Given the description of an element on the screen output the (x, y) to click on. 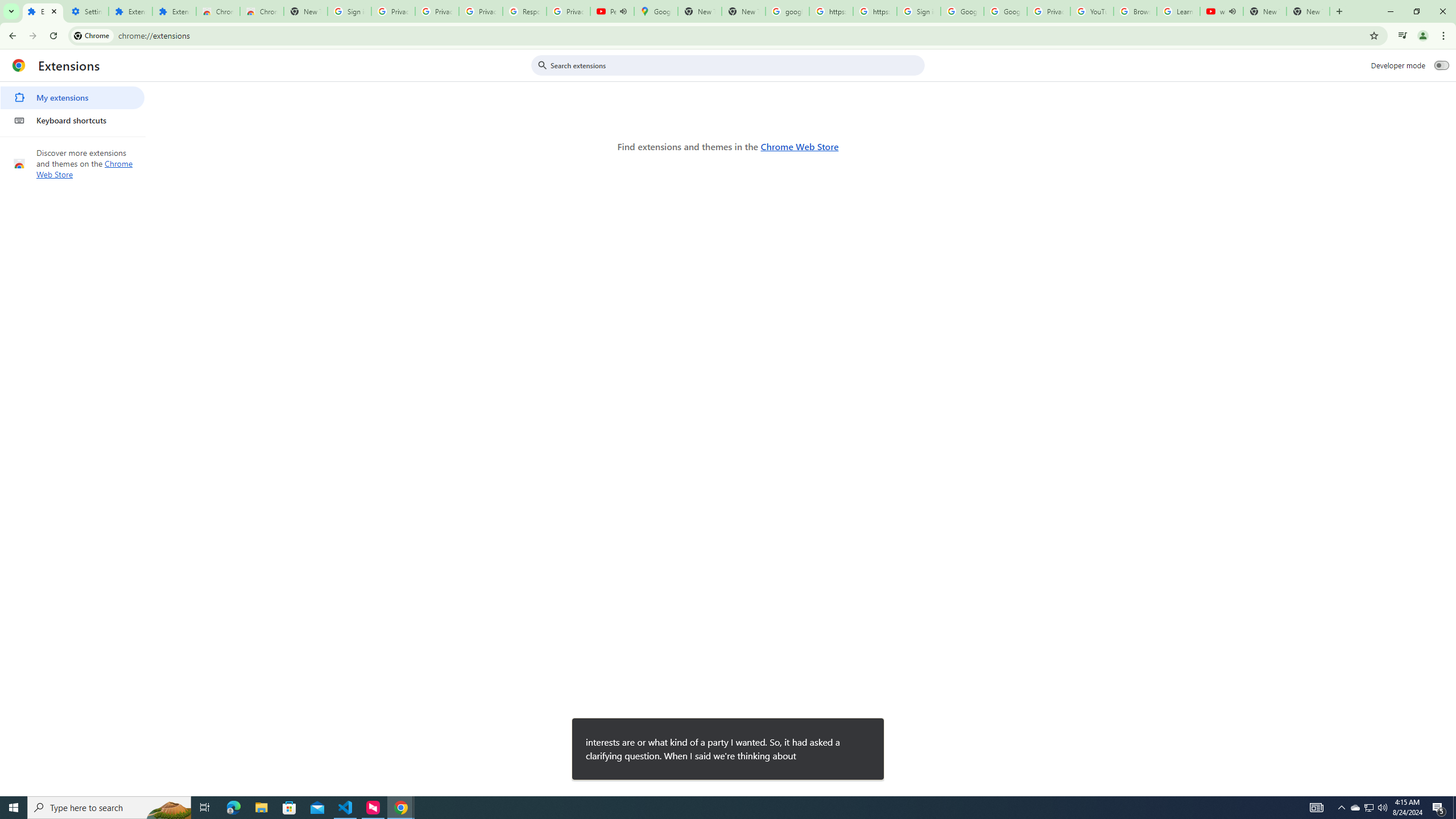
Sign in - Google Accounts (349, 11)
Extensions (42, 11)
Chrome Web Store (217, 11)
Chrome Web Store - Themes (261, 11)
Developer mode (1442, 64)
https://scholar.google.com/ (830, 11)
Sign in - Google Accounts (918, 11)
Settings (86, 11)
